Given the description of an element on the screen output the (x, y) to click on. 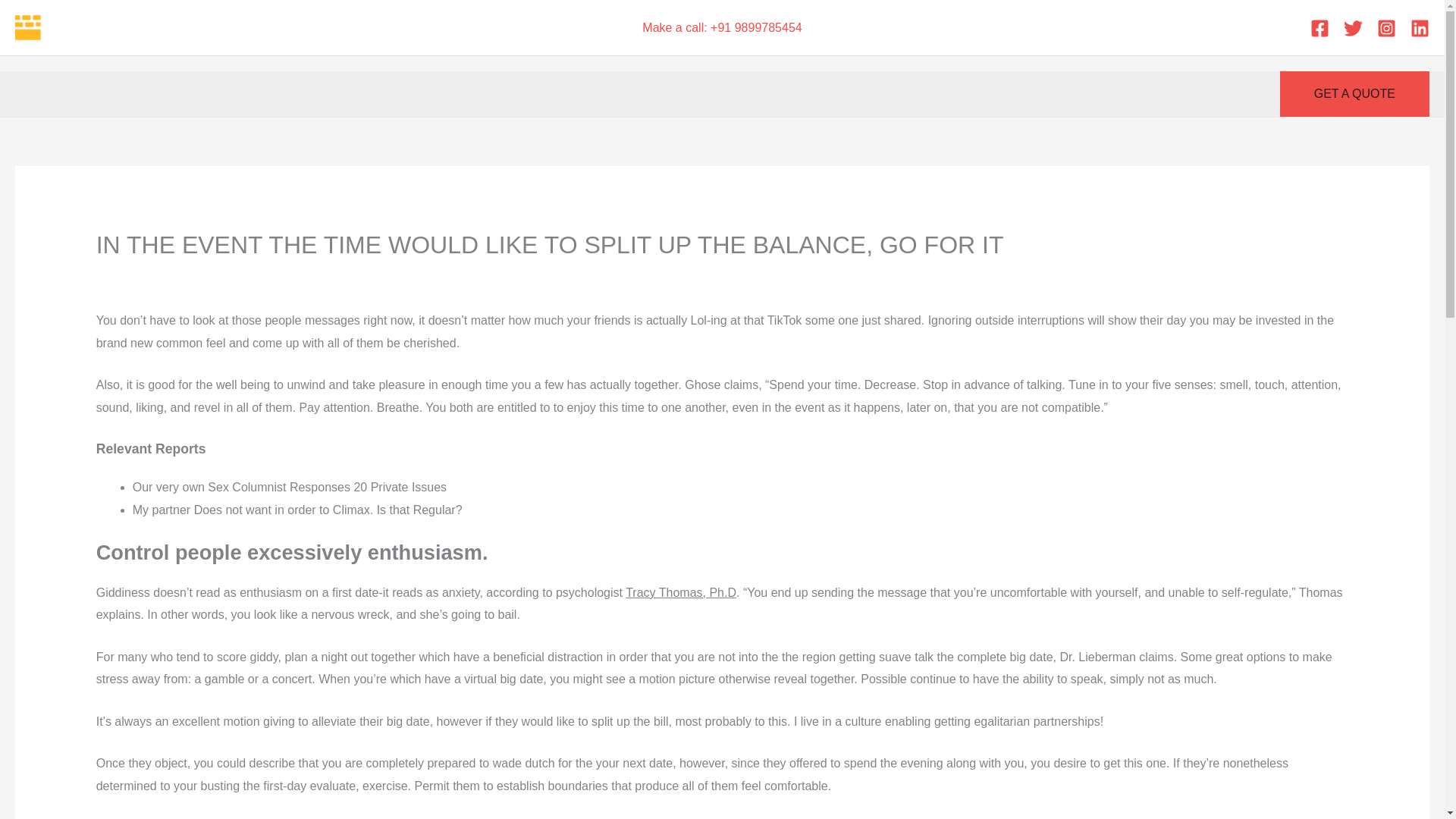
Leave a Comment (145, 276)
GET A QUOTE (1354, 94)
anjaniassociates (773, 276)
View all posts by anjaniassociates (773, 276)
